Given the description of an element on the screen output the (x, y) to click on. 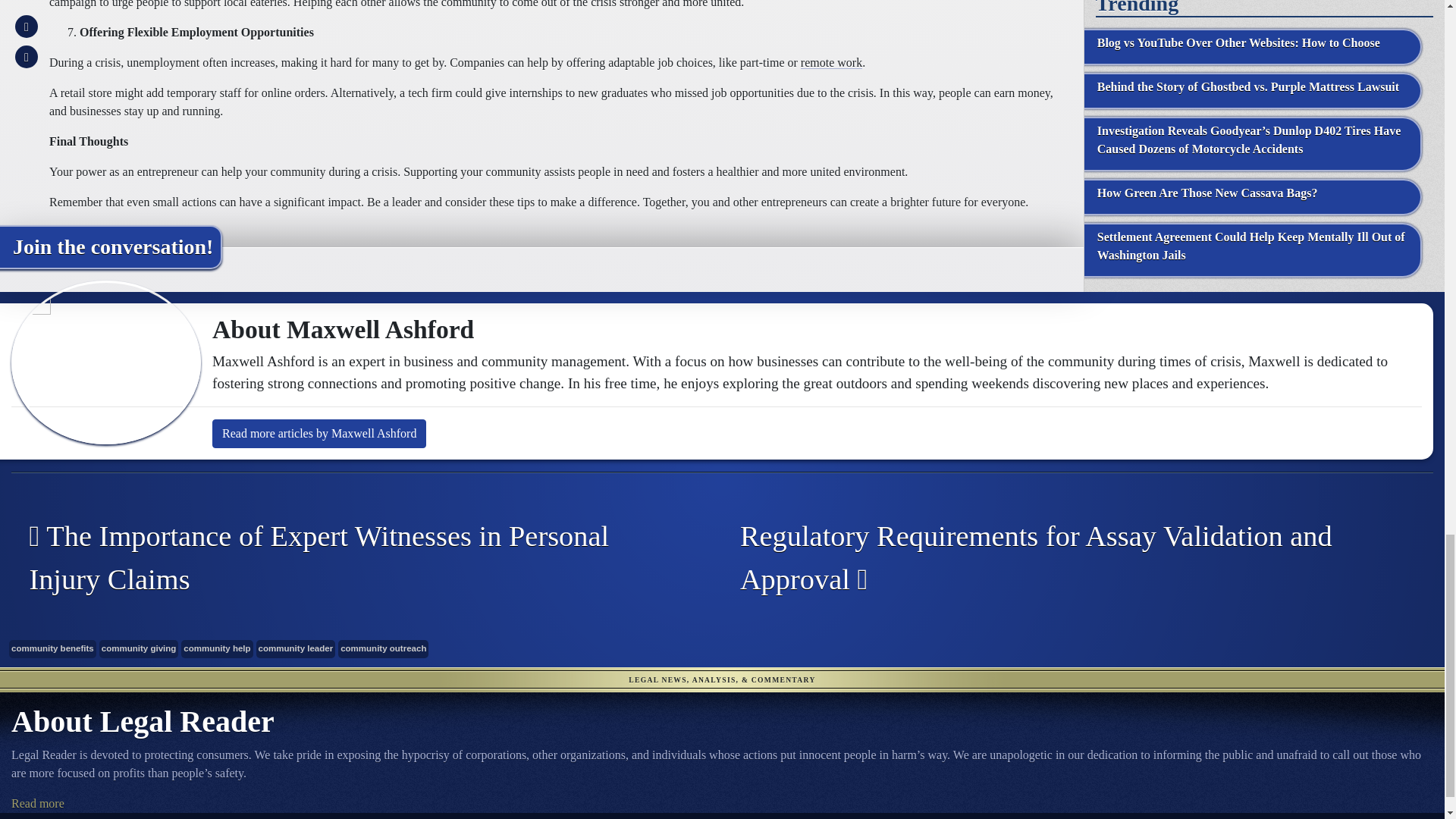
community benefits (52, 648)
Regulatory Requirements for Assay Validation and Approval  (1066, 558)
Read more articles by Maxwell Ashford (319, 433)
Read more articles by Maxwell Ashford (319, 433)
community leader (296, 648)
community help (215, 648)
community giving (139, 648)
Read more (37, 802)
community outreach (382, 648)
